Given the description of an element on the screen output the (x, y) to click on. 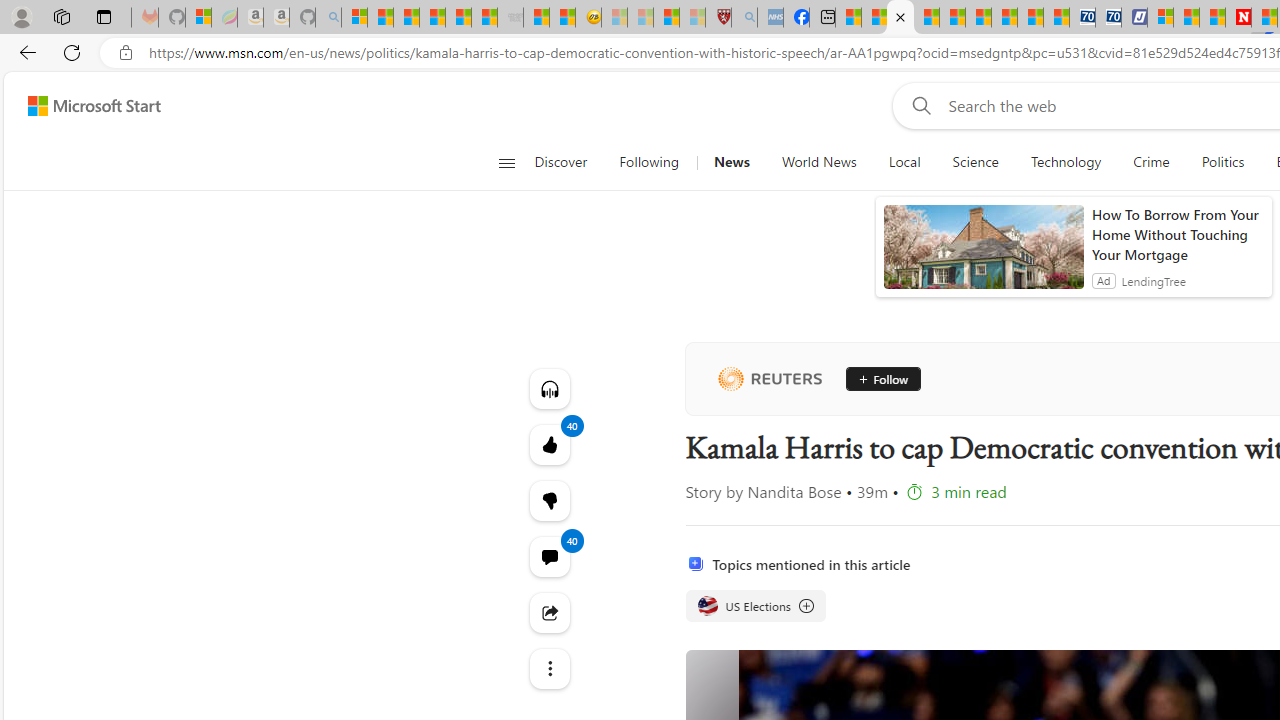
anim-content (983, 255)
Listen to this article (548, 388)
Share this story (548, 612)
US Elections (707, 606)
LendingTree (1153, 280)
US Elections US Elections US Elections (754, 605)
US Elections (754, 605)
